Given the description of an element on the screen output the (x, y) to click on. 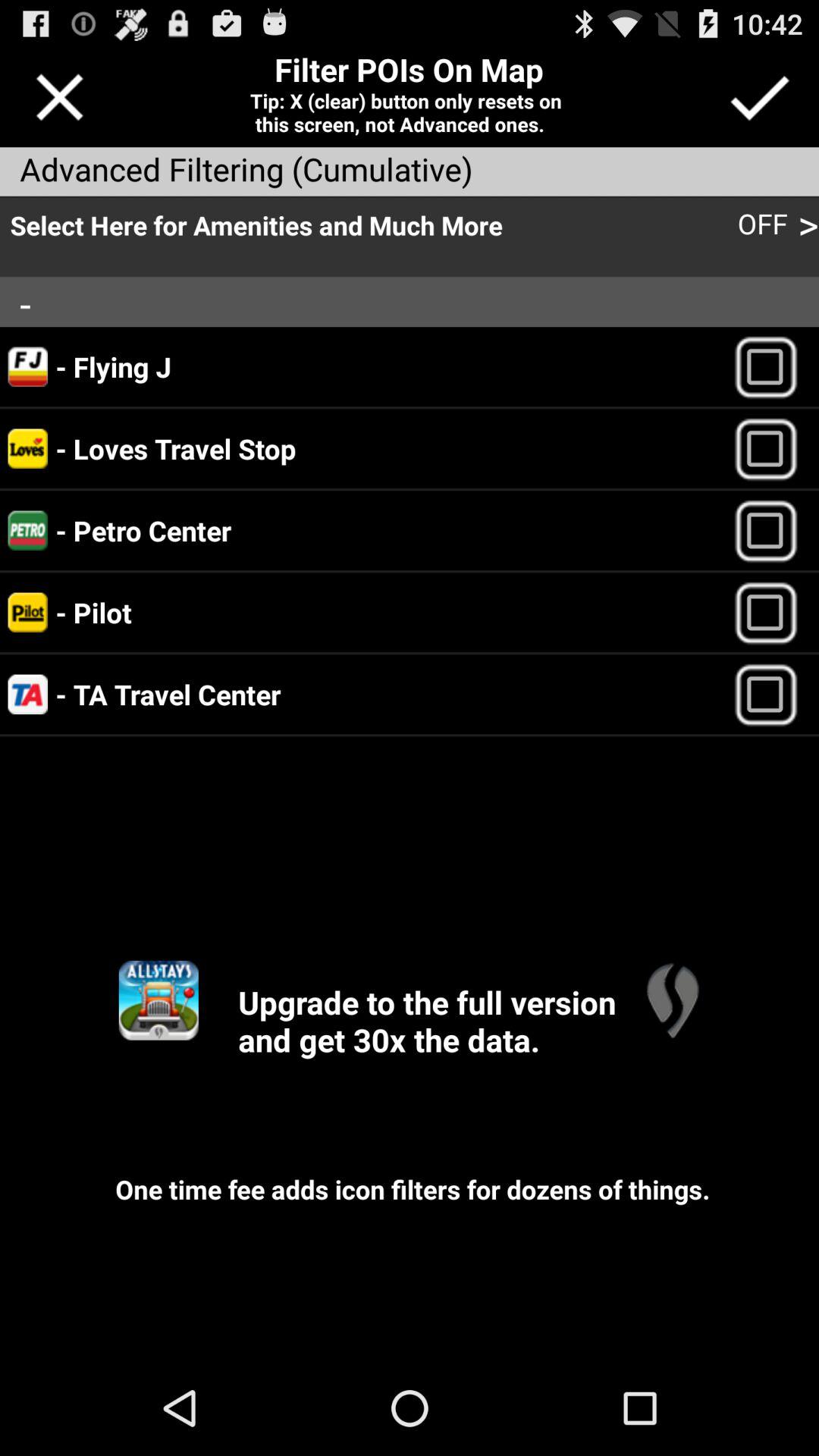
select petro center (772, 530)
